Given the description of an element on the screen output the (x, y) to click on. 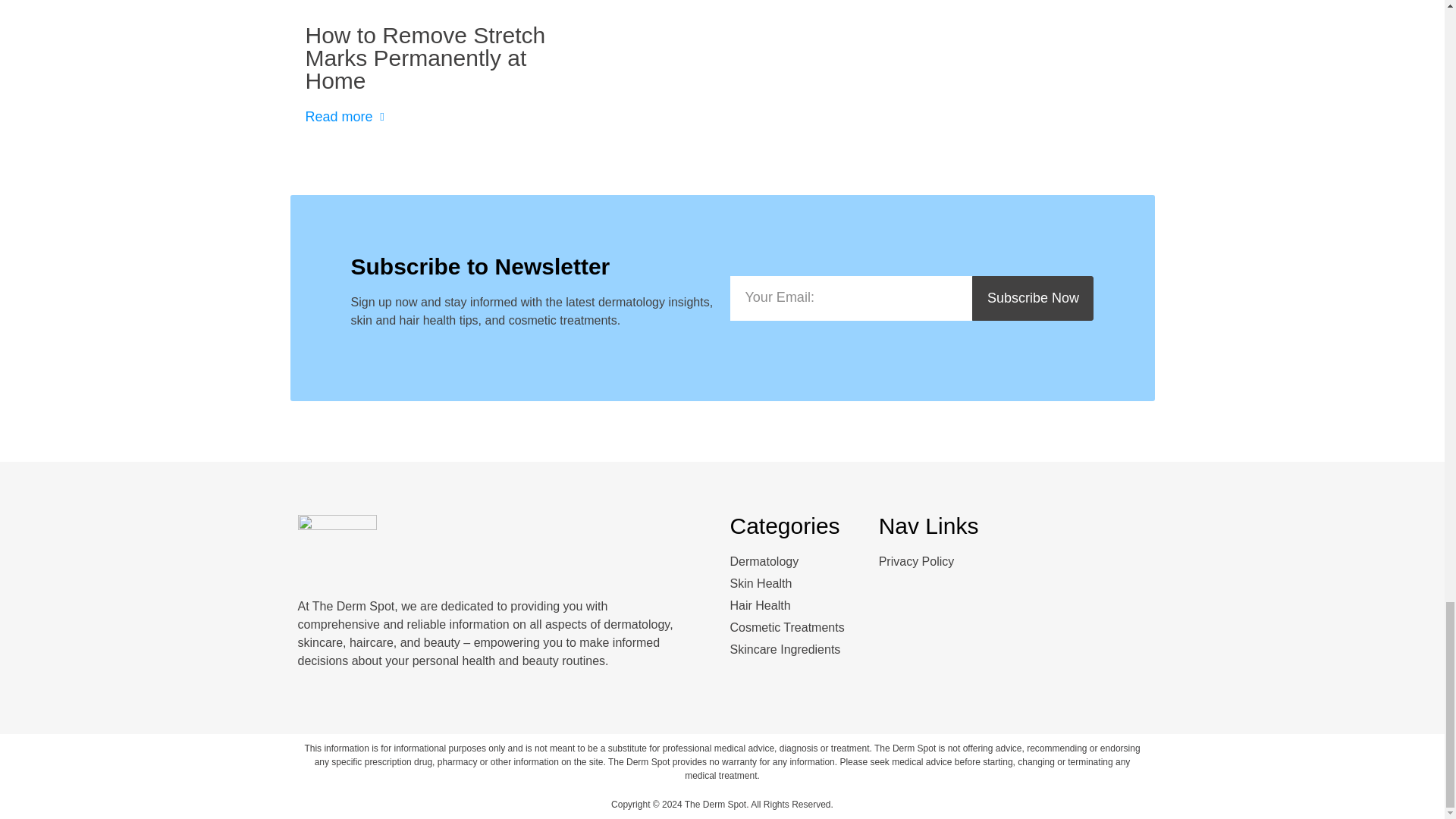
Read more (347, 116)
